Given the description of an element on the screen output the (x, y) to click on. 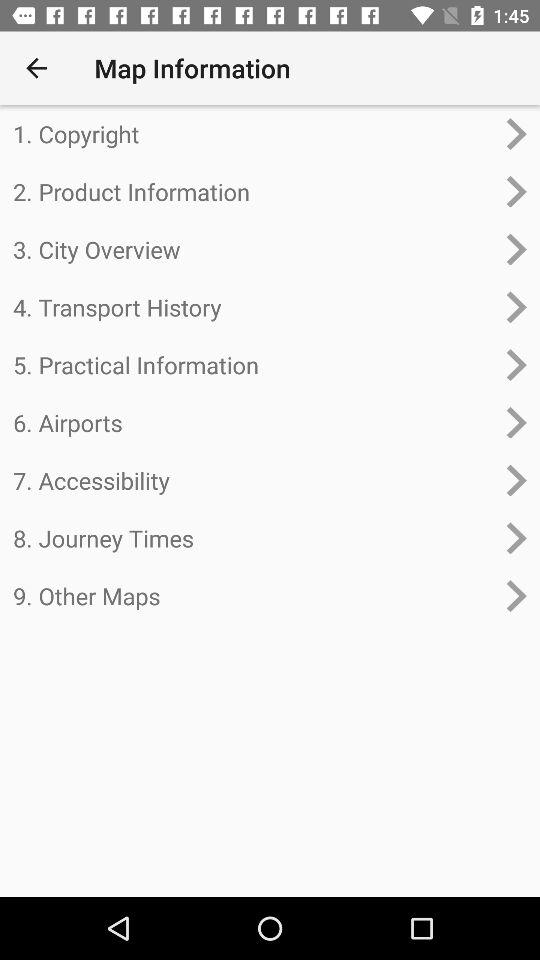
click 9. other maps (253, 595)
